Given the description of an element on the screen output the (x, y) to click on. 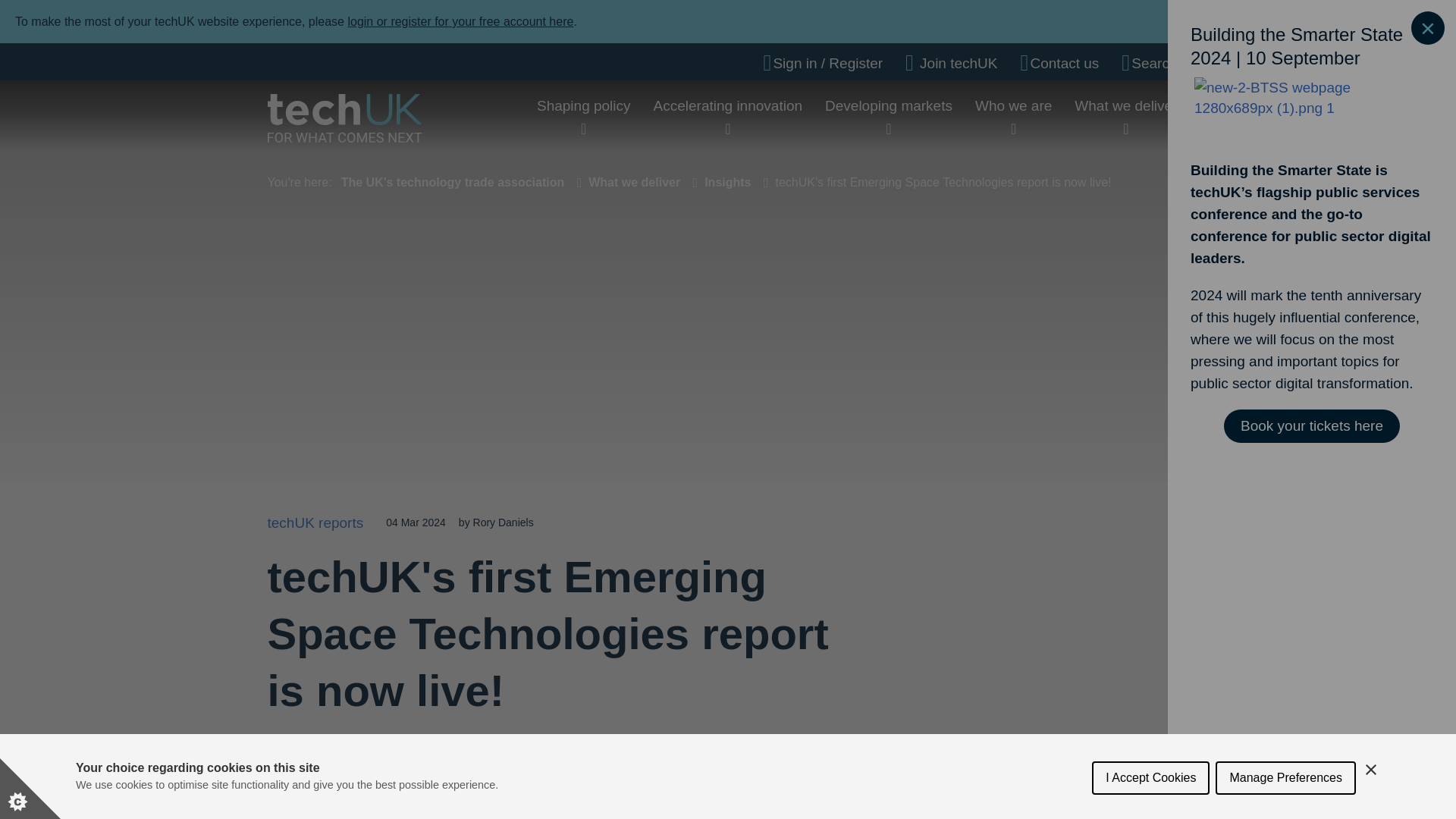
Manage Preferences (1285, 808)
Shaping policy (583, 105)
Join techUK (951, 62)
Accelerating innovation (727, 105)
login or register for your free account here (460, 21)
Contact us (1059, 62)
Book your tickets here (1311, 426)
I Accept Cookies (1150, 811)
Search (1148, 62)
Book your tickets here (1311, 426)
